Given the description of an element on the screen output the (x, y) to click on. 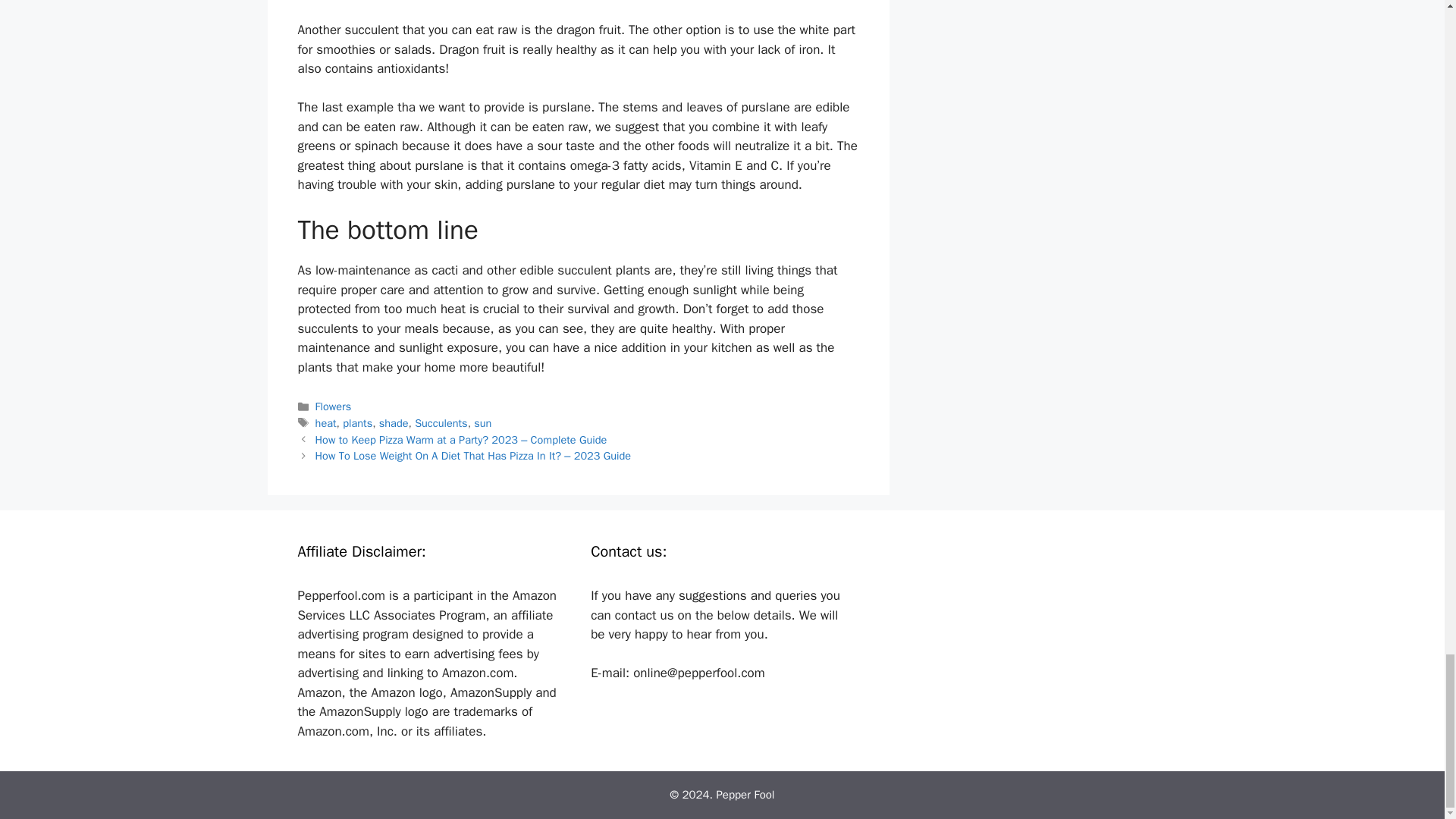
heat (325, 422)
plants (357, 422)
Succulents (440, 422)
shade (393, 422)
sun (483, 422)
Flowers (333, 406)
